Given the description of an element on the screen output the (x, y) to click on. 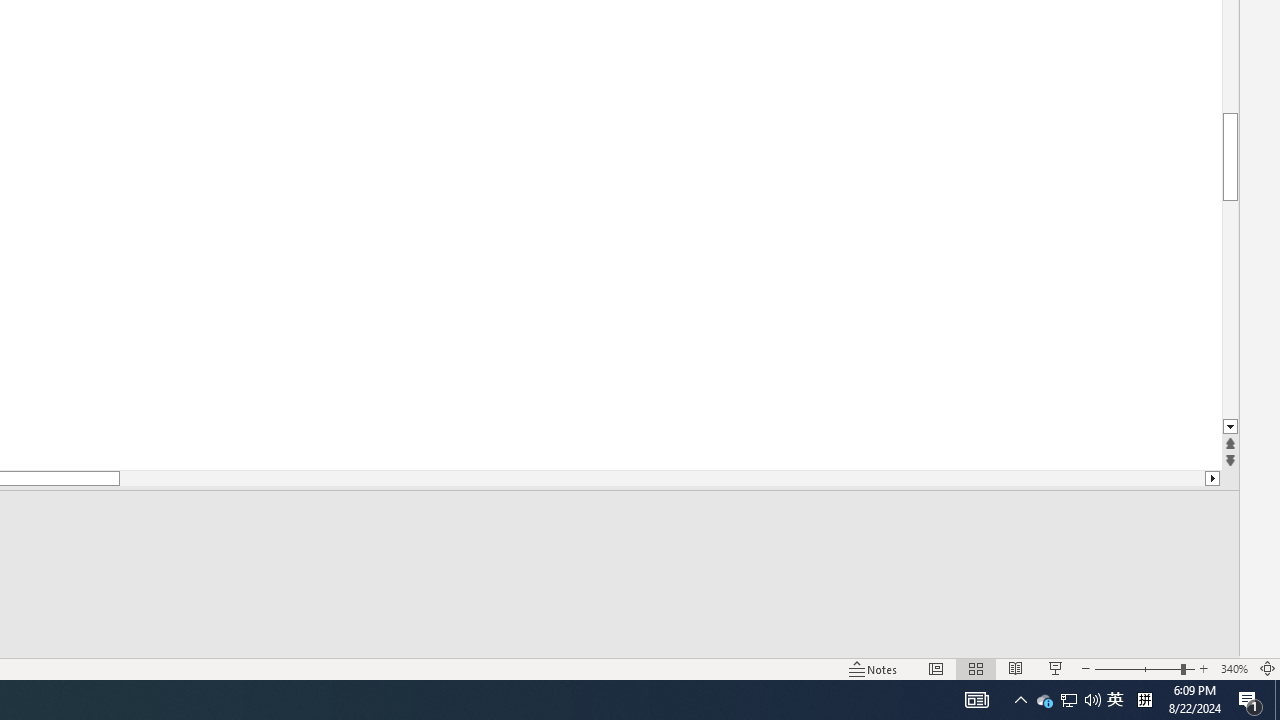
Zoom 340% (1234, 668)
